Given the description of an element on the screen output the (x, y) to click on. 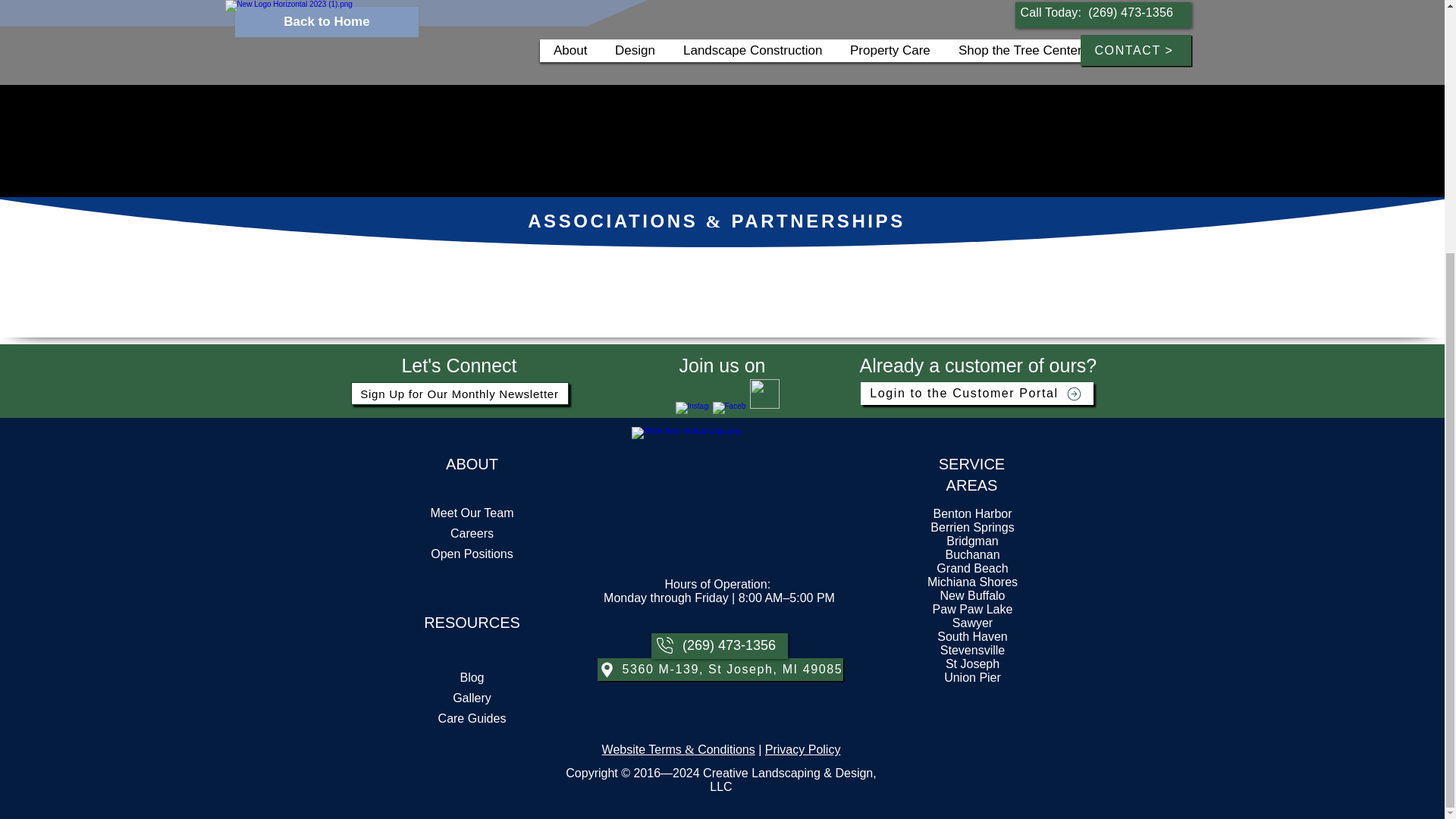
Login to the Customer Portal (976, 393)
Meet Our Team (471, 512)
Sign Up for Our Monthly Newsletter (458, 393)
Back to Home (326, 21)
5360 M-139, St Joseph, MI 49085 (719, 669)
